Given the description of an element on the screen output the (x, y) to click on. 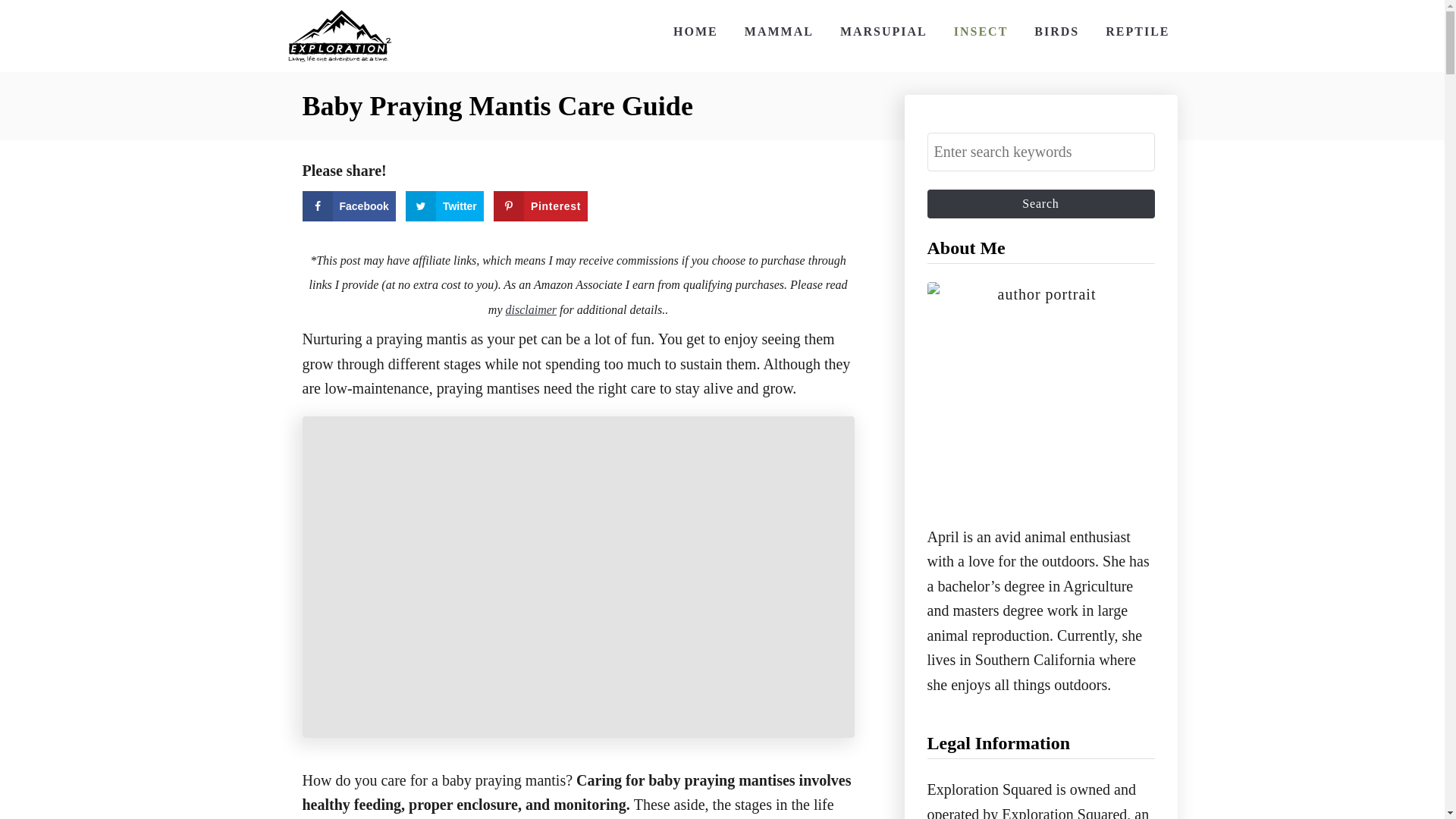
disclaimer (530, 309)
Share on Facebook (347, 205)
Pinterest (540, 205)
MARSUPIAL (883, 31)
Twitter (444, 205)
REPTILE (1136, 31)
BIRDS (1056, 31)
Search for: (1040, 151)
MAMMAL (778, 31)
Search (1040, 203)
Save to Pinterest (540, 205)
INSECT (981, 31)
HOME (695, 31)
Exploration Squared (339, 35)
Facebook (347, 205)
